Given the description of an element on the screen output the (x, y) to click on. 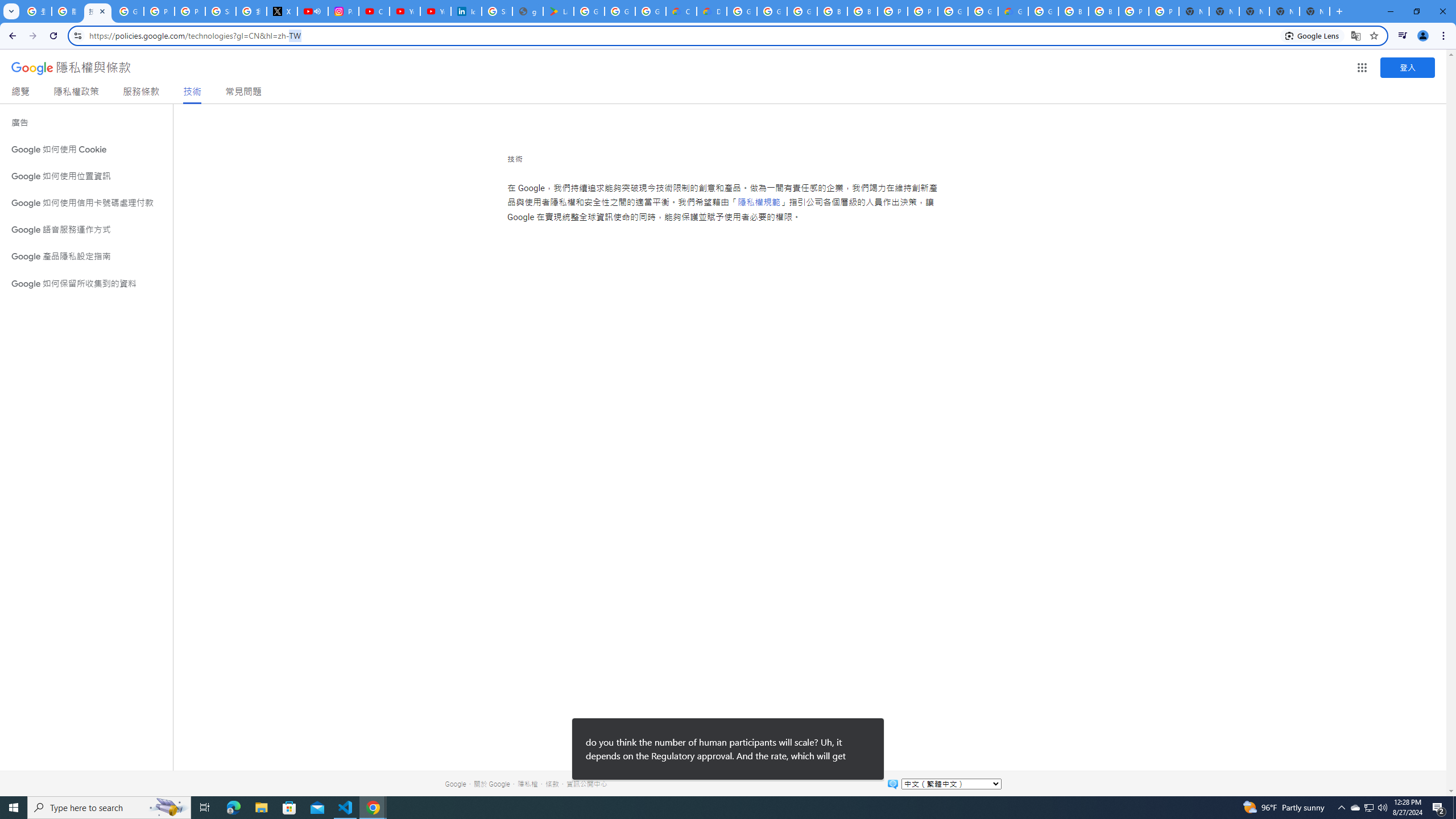
Google (454, 783)
Google Workspace - Specific Terms (619, 11)
Browse Chrome as a guest - Computer - Google Chrome Help (1103, 11)
Mute tab (317, 10)
Google Cloud Platform (982, 11)
YouTube Culture & Trends - YouTube Top 10, 2021 (434, 11)
Last Shelter: Survival - Apps on Google Play (558, 11)
